Given the description of an element on the screen output the (x, y) to click on. 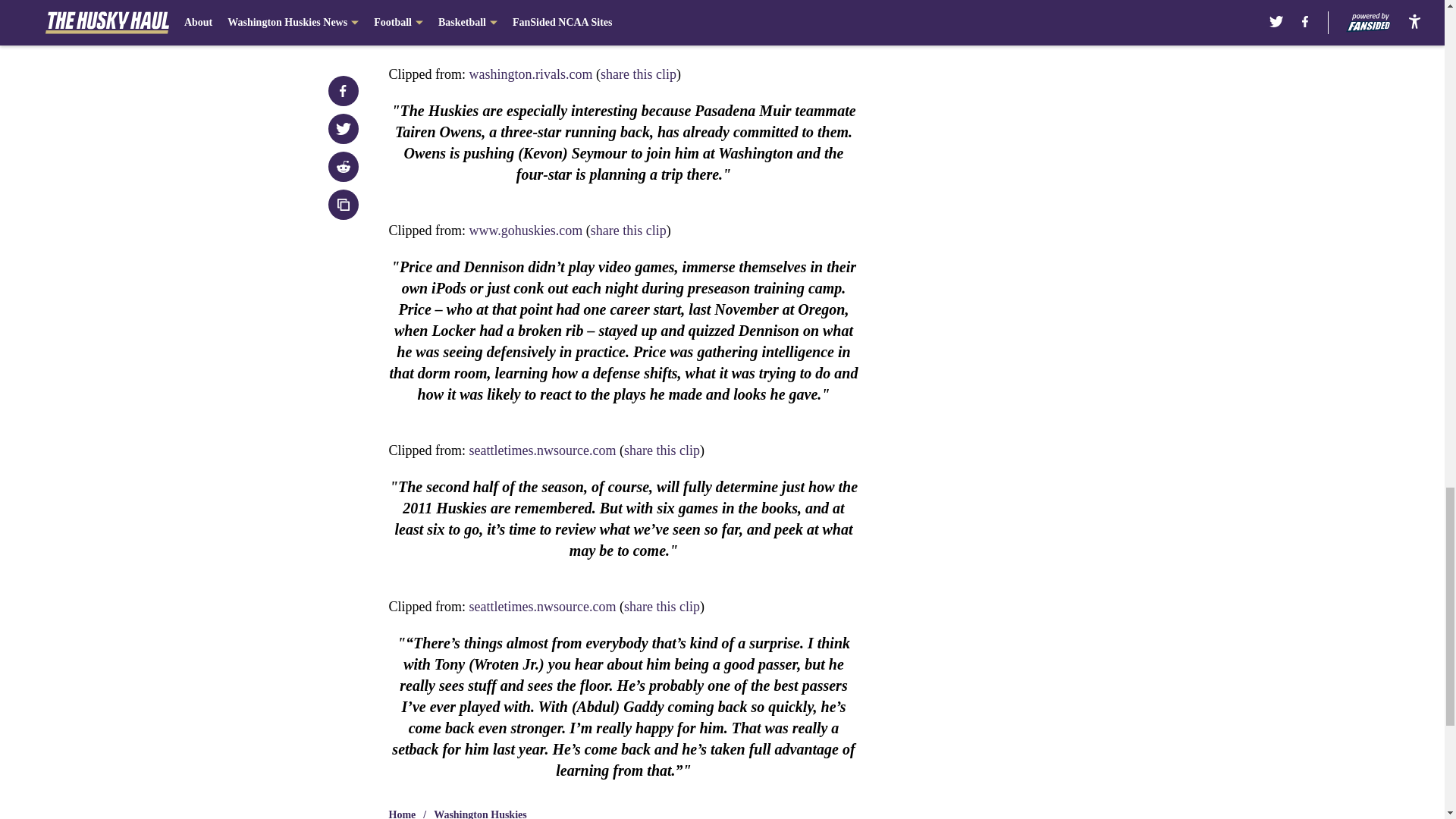
washington.rivals.com (530, 73)
share this clip (628, 230)
share this clip (638, 73)
www.gohuskies.com (525, 230)
